Given the description of an element on the screen output the (x, y) to click on. 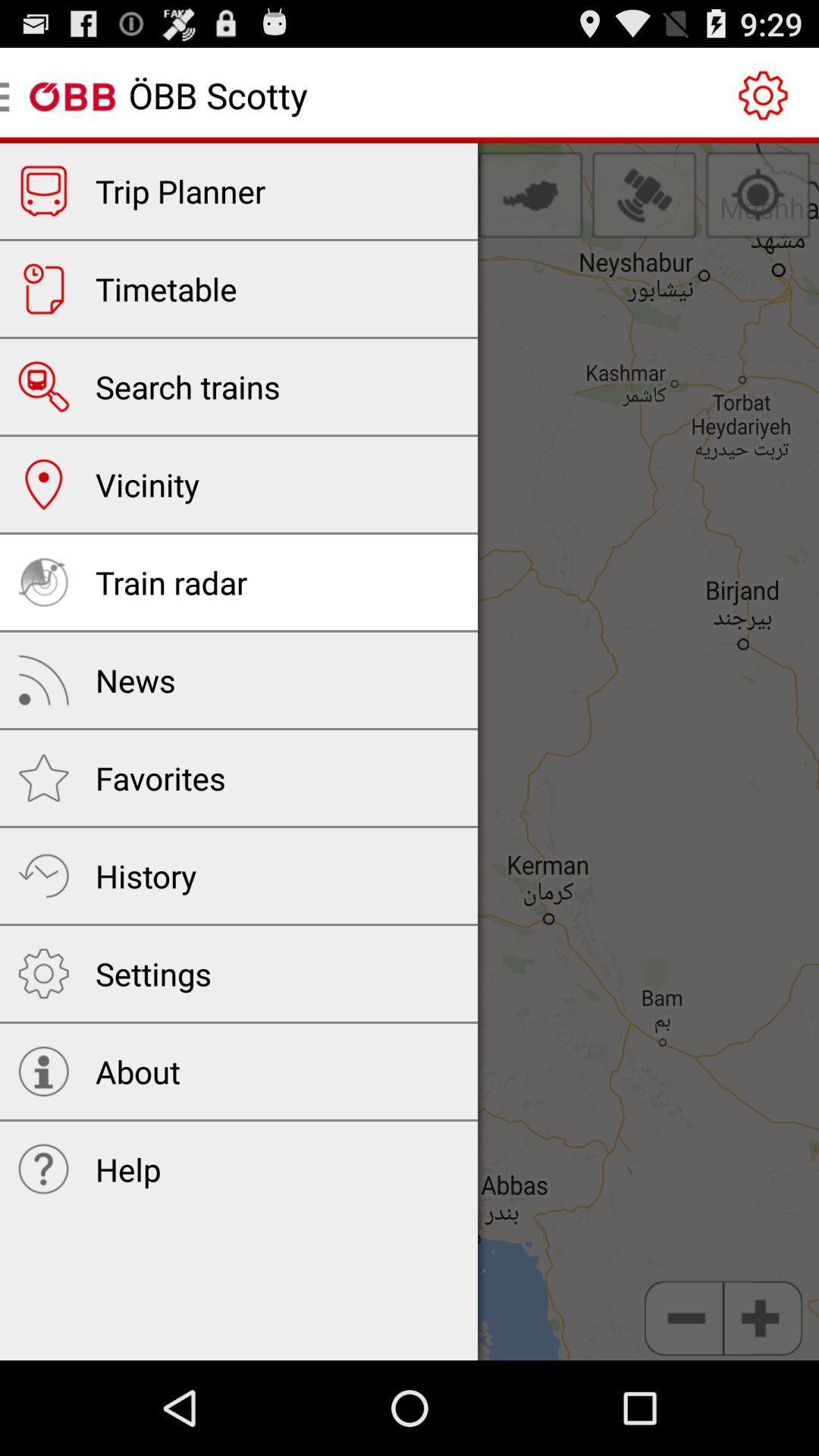
tap the icon at the center (409, 751)
